Given the description of an element on the screen output the (x, y) to click on. 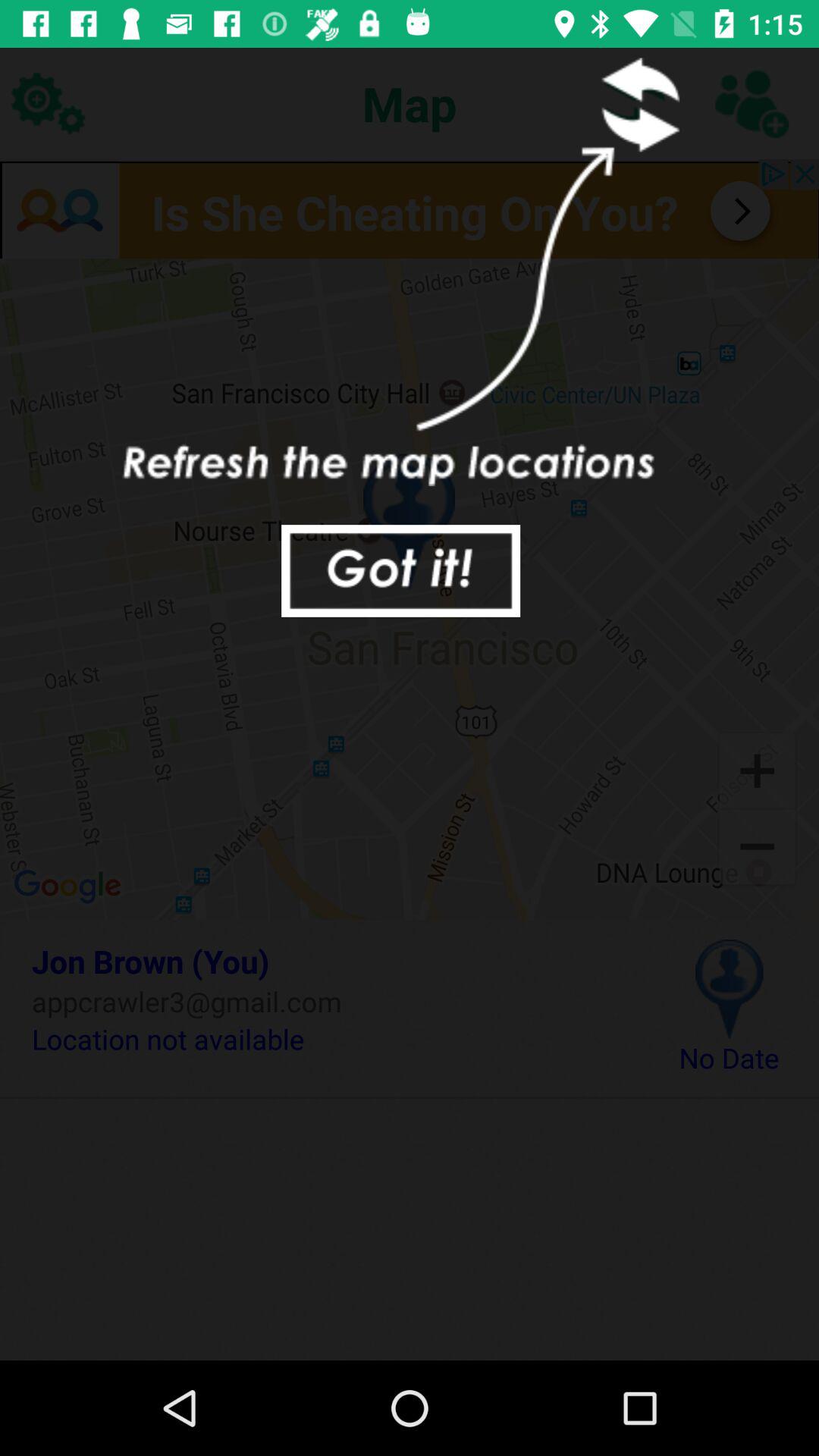
add contact (751, 103)
